Given the description of an element on the screen output the (x, y) to click on. 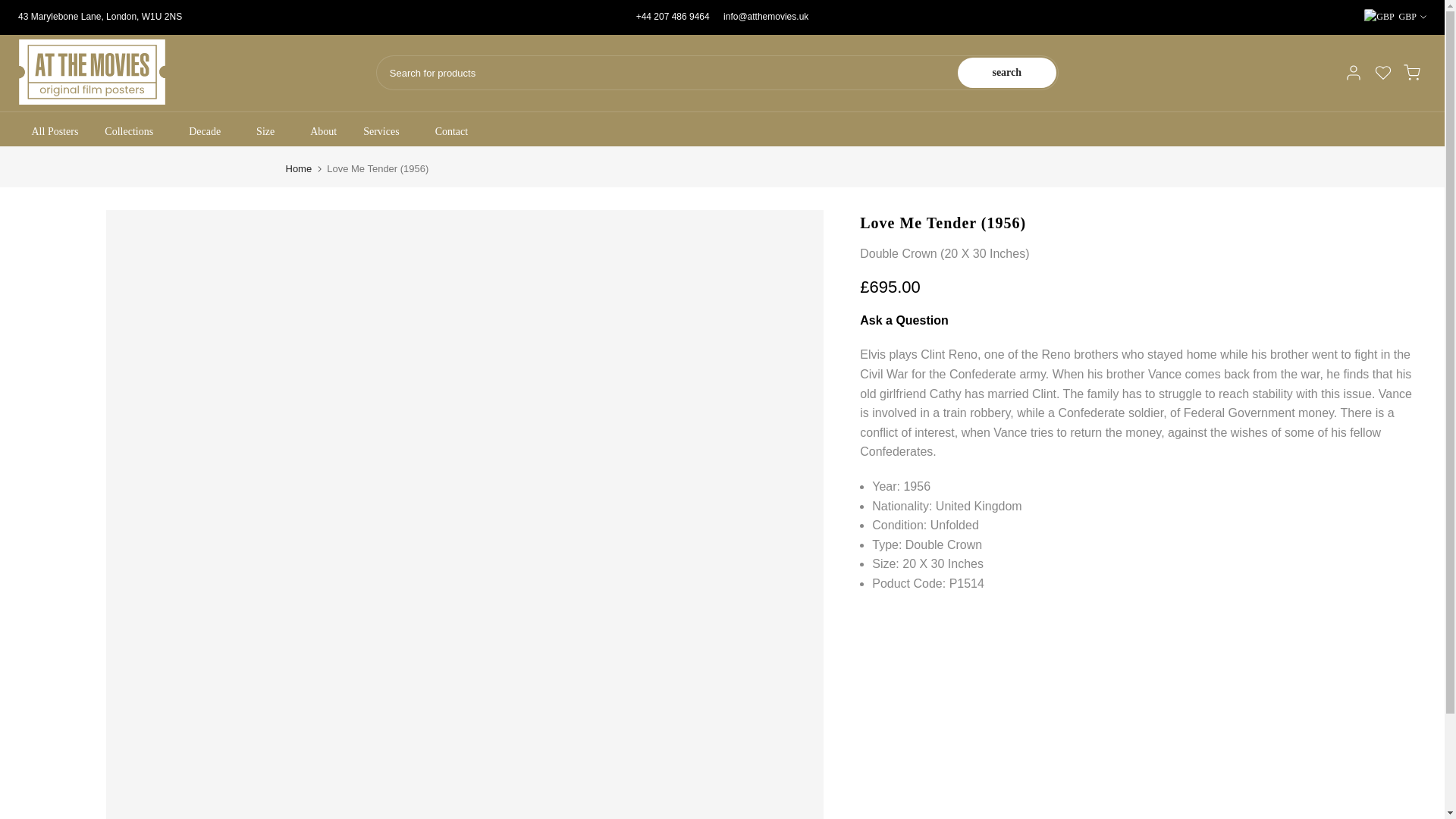
Decade (209, 131)
Collections (133, 131)
Services (386, 131)
Skip to content (10, 7)
Ask a Question (903, 319)
About (323, 131)
All Posters (54, 131)
Home (298, 168)
GBP (1395, 17)
search (1007, 72)
